Given the description of an element on the screen output the (x, y) to click on. 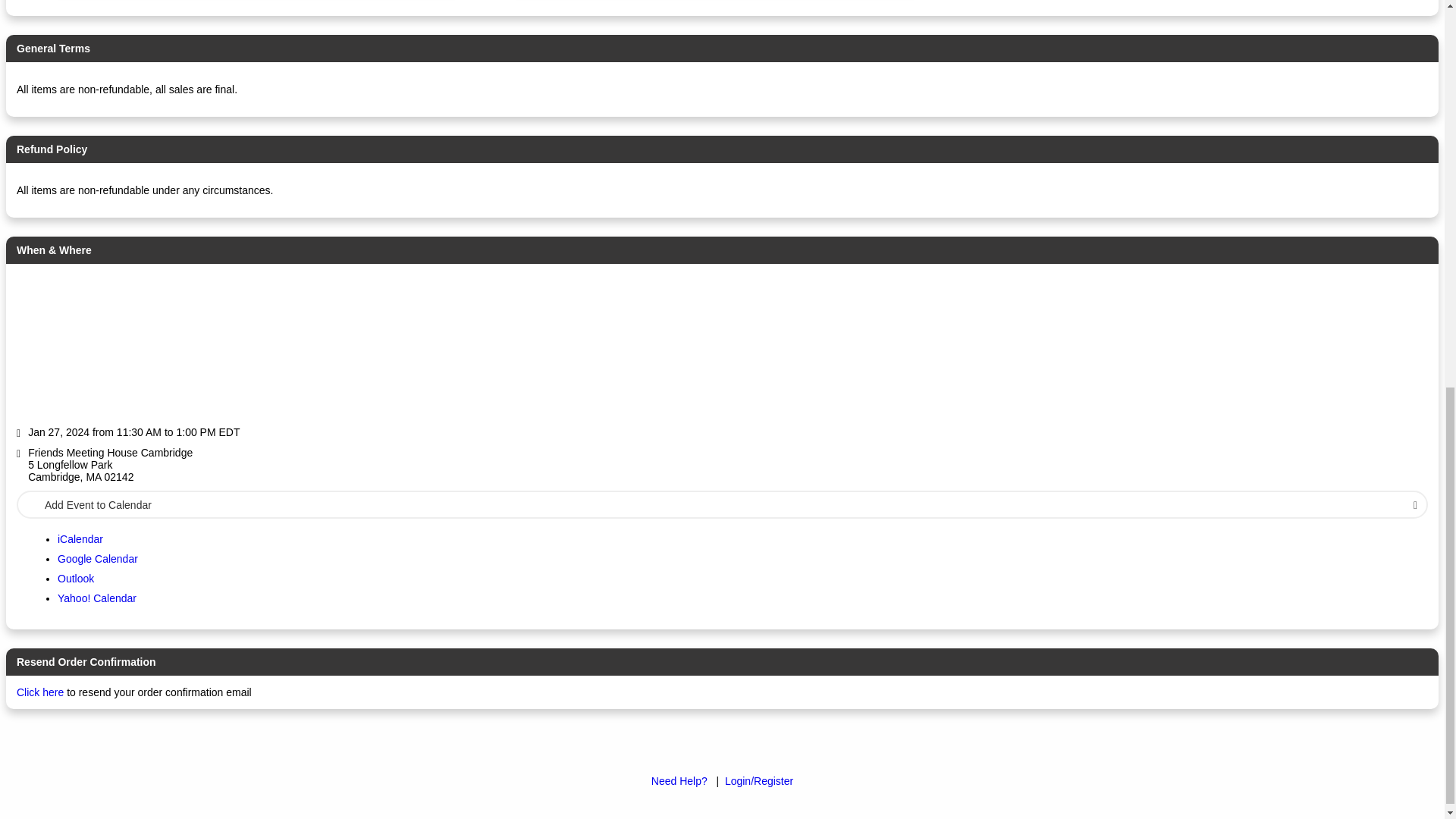
Yahoo! Calendar (97, 598)
Add Event to Calendar (722, 504)
Outlook (76, 578)
Google Calendar (98, 558)
iCalendar (80, 539)
Need Help? (678, 780)
Click here (40, 692)
